Given the description of an element on the screen output the (x, y) to click on. 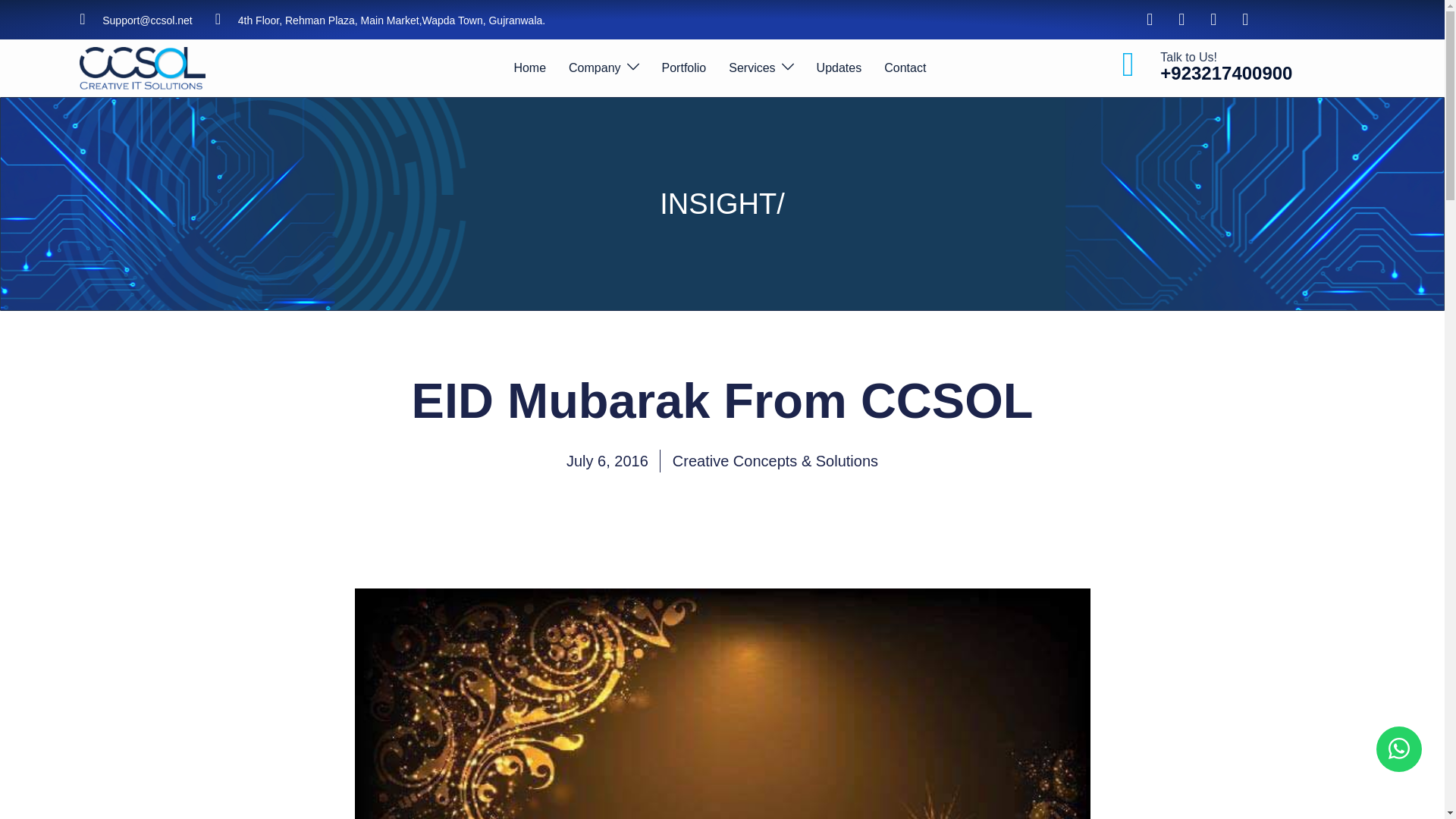
Company (594, 68)
Contact (904, 68)
Home (529, 68)
Updates (838, 68)
Portfolio (684, 68)
Services (751, 68)
